Given the description of an element on the screen output the (x, y) to click on. 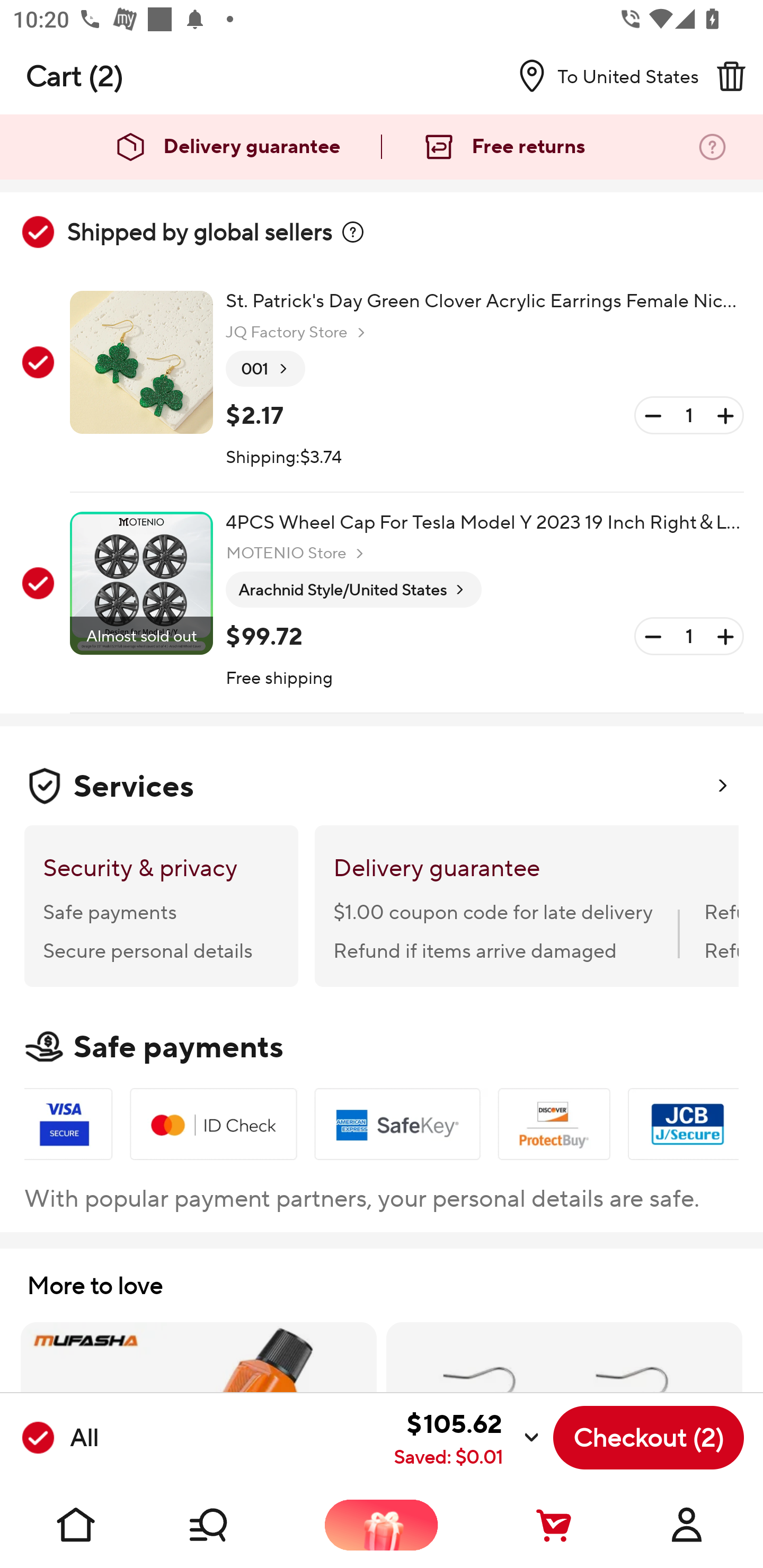
 To United States (601, 75)
 (730, 75)
 (352, 231)
JQ Factory Store (297, 333)
001 (265, 369)
1 (688, 415)
Shipping:$3.74 (283, 457)
MOTENIO Store (296, 553)
Arachnid Style/United States (353, 590)
1 (688, 636)
Free shipping (279, 678)
$_105.62 Saved: $0.01  (324, 1437)
Checkout (2) (648, 1437)
Home (76, 1524)
Shop (228, 1524)
Account (686, 1524)
